Given the description of an element on the screen output the (x, y) to click on. 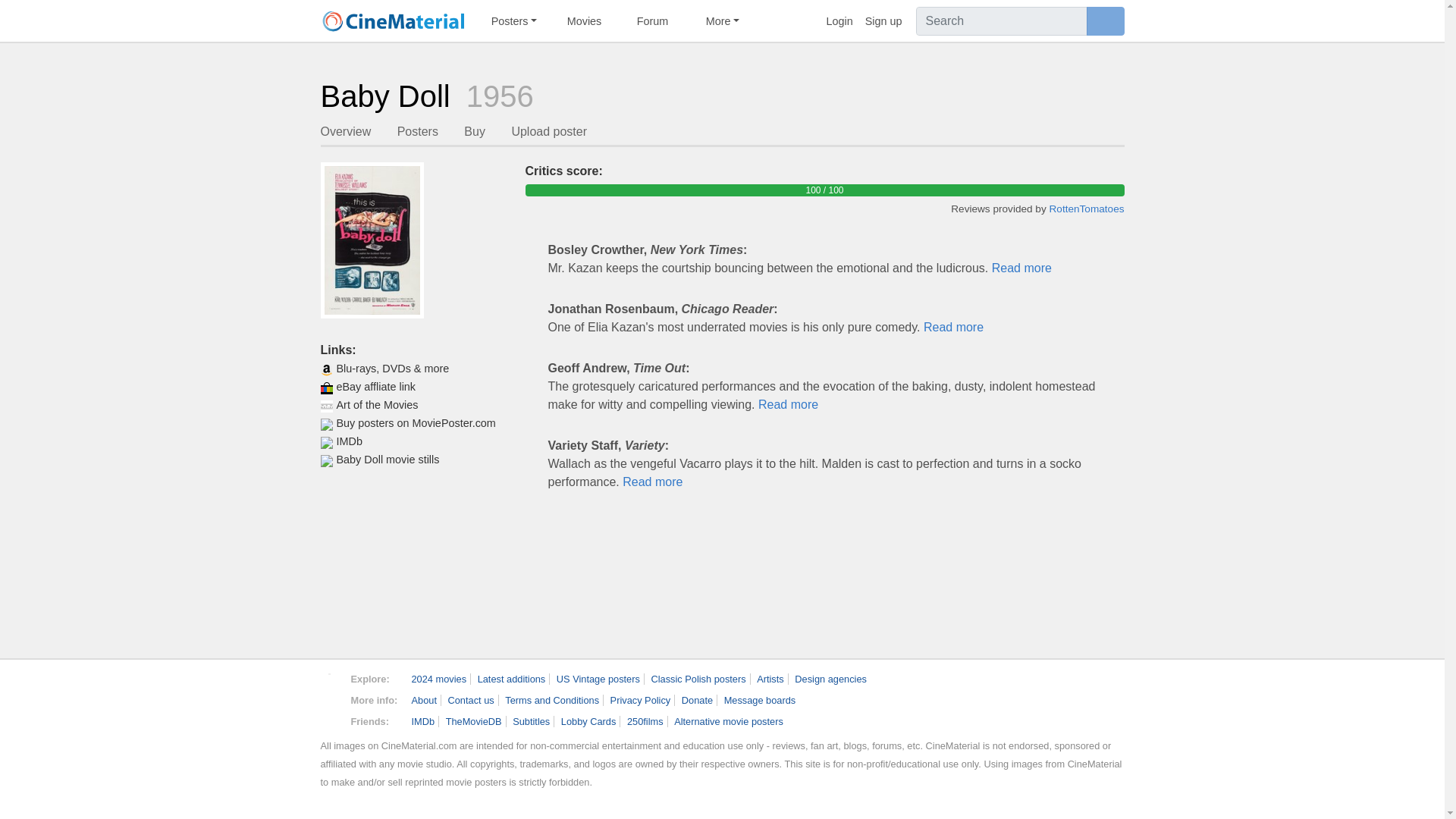
Art of the Movies (414, 404)
Alternative movie posters (728, 721)
Read more (953, 327)
Upload poster (548, 133)
Buy posters for Baby Doll on Art of the Movies (414, 404)
Time Out (659, 367)
RottenTomatoes (1086, 208)
Chicago Reader (727, 308)
Search for Baby Doll posters and memorabilia on eBay. (414, 386)
The Movie Database (473, 721)
